Given the description of an element on the screen output the (x, y) to click on. 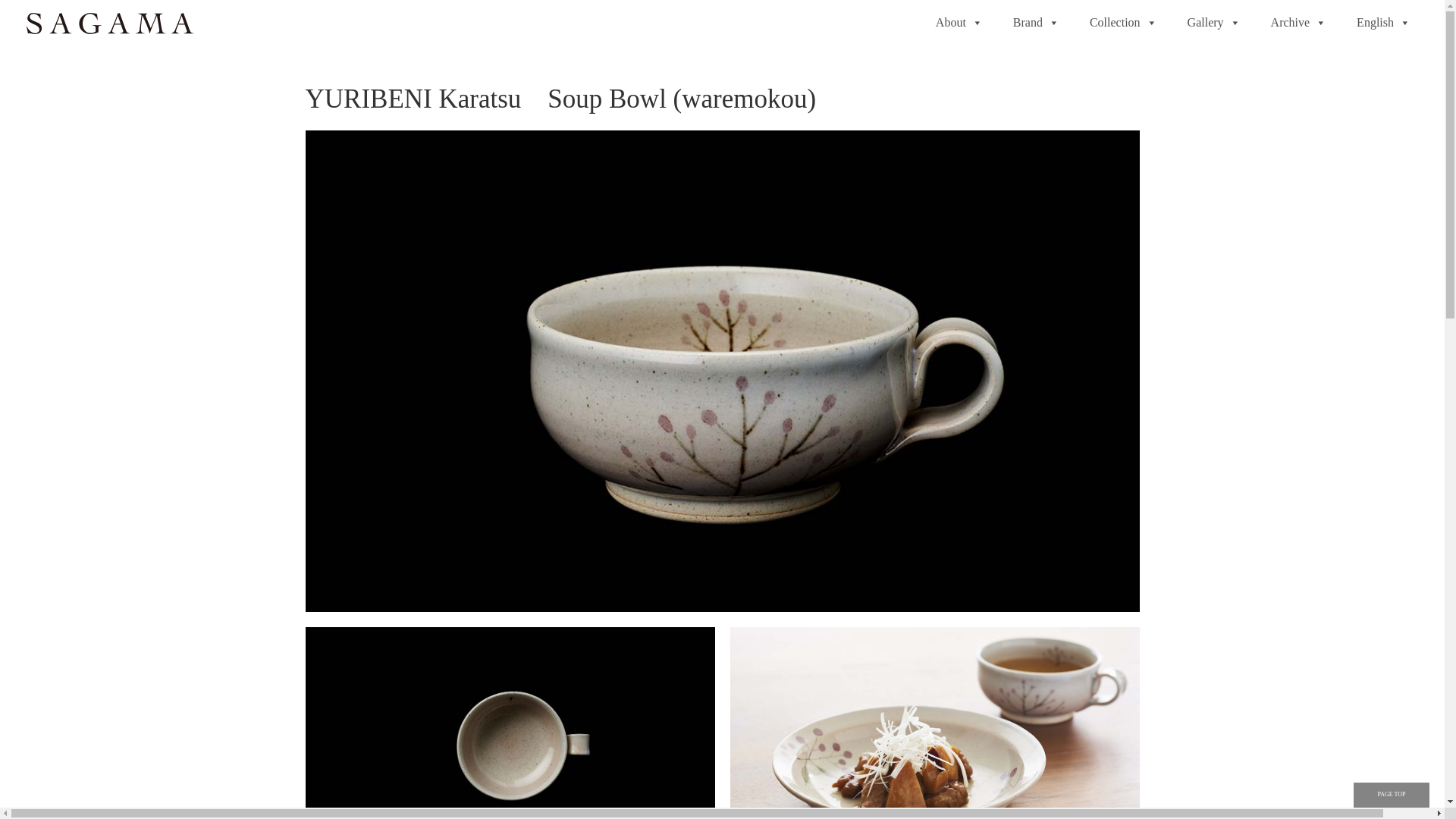
Brand (1035, 22)
Collection (1123, 22)
PAGE TOP (1391, 794)
English (1383, 22)
About (959, 22)
Archive (1298, 22)
Gallery (1214, 22)
